Given the description of an element on the screen output the (x, y) to click on. 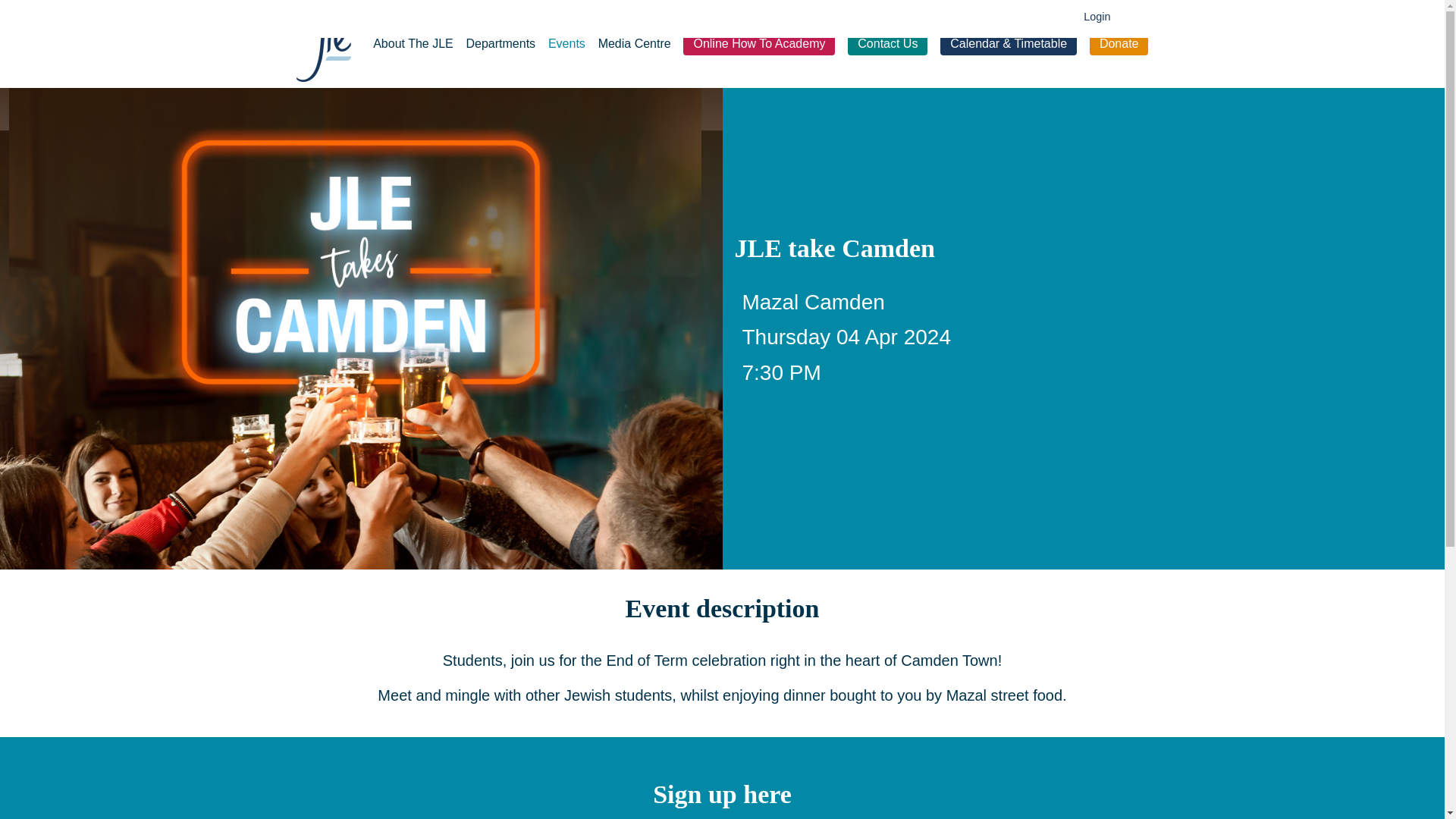
Contact Us (887, 43)
Departments (500, 42)
Donate (1118, 43)
Login (1096, 16)
Media Centre (634, 42)
Events (566, 42)
About The JLE (412, 42)
Online How To Academy (758, 43)
